Given the description of an element on the screen output the (x, y) to click on. 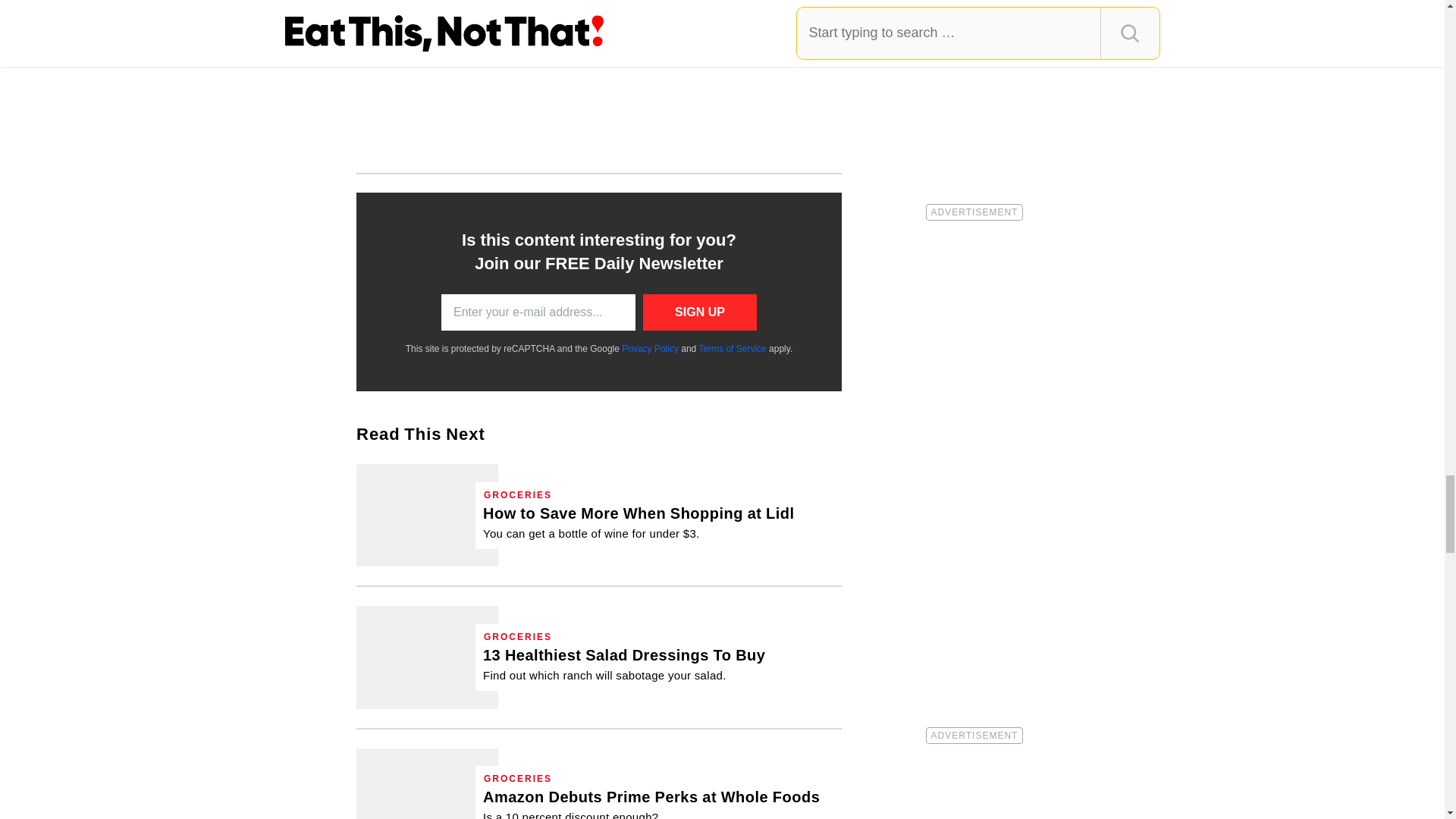
8 Budget-Friendly Reasons to Start Shopping at Lidl (638, 522)
8 Budget-Friendly Reasons to Start Shopping at Lidl (426, 515)
